Given the description of an element on the screen output the (x, y) to click on. 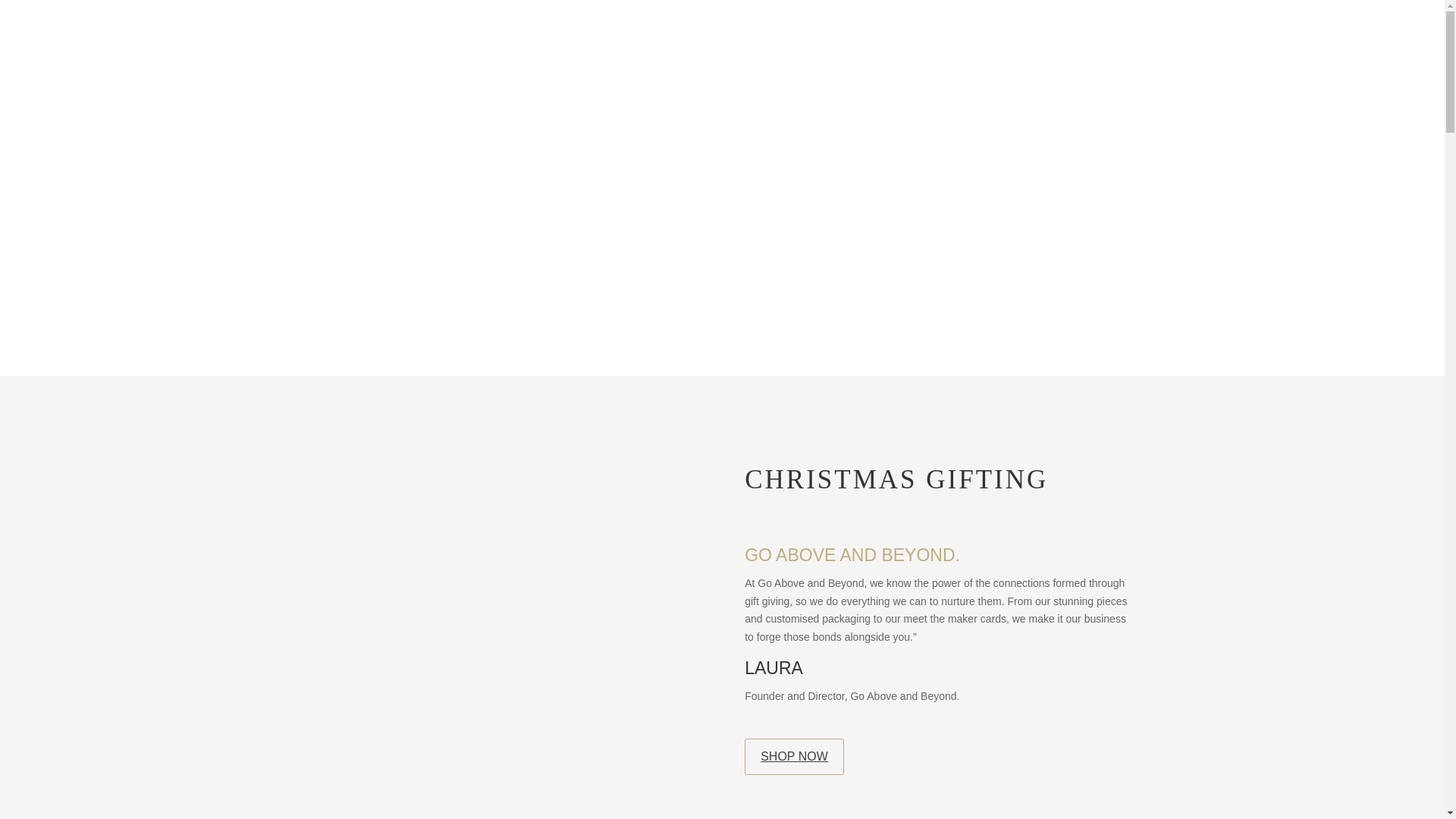
Page 3 (937, 645)
SHOP NOW (794, 756)
